Given the description of an element on the screen output the (x, y) to click on. 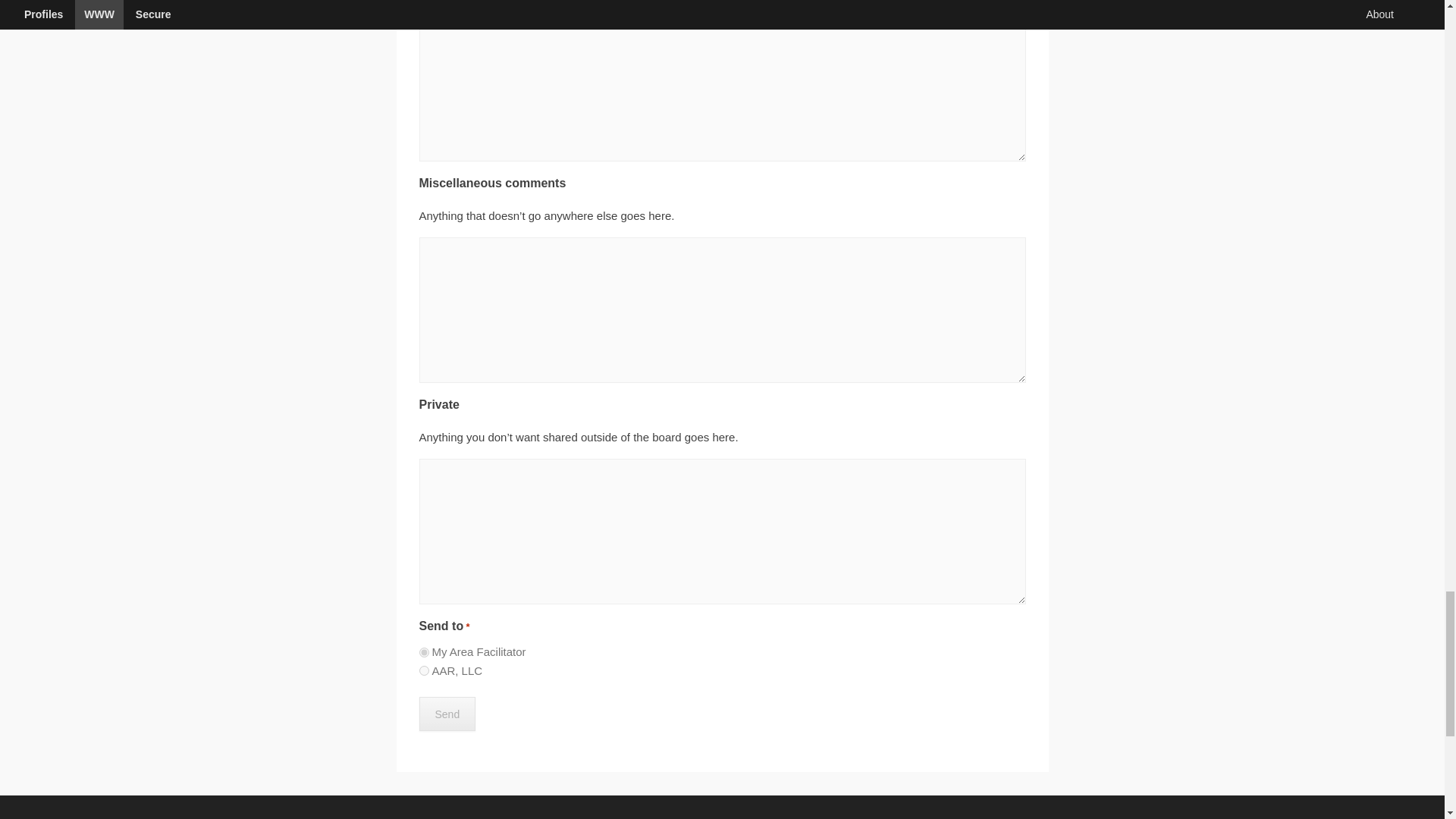
llc (423, 670)
af (423, 652)
Send (447, 713)
